Given the description of an element on the screen output the (x, y) to click on. 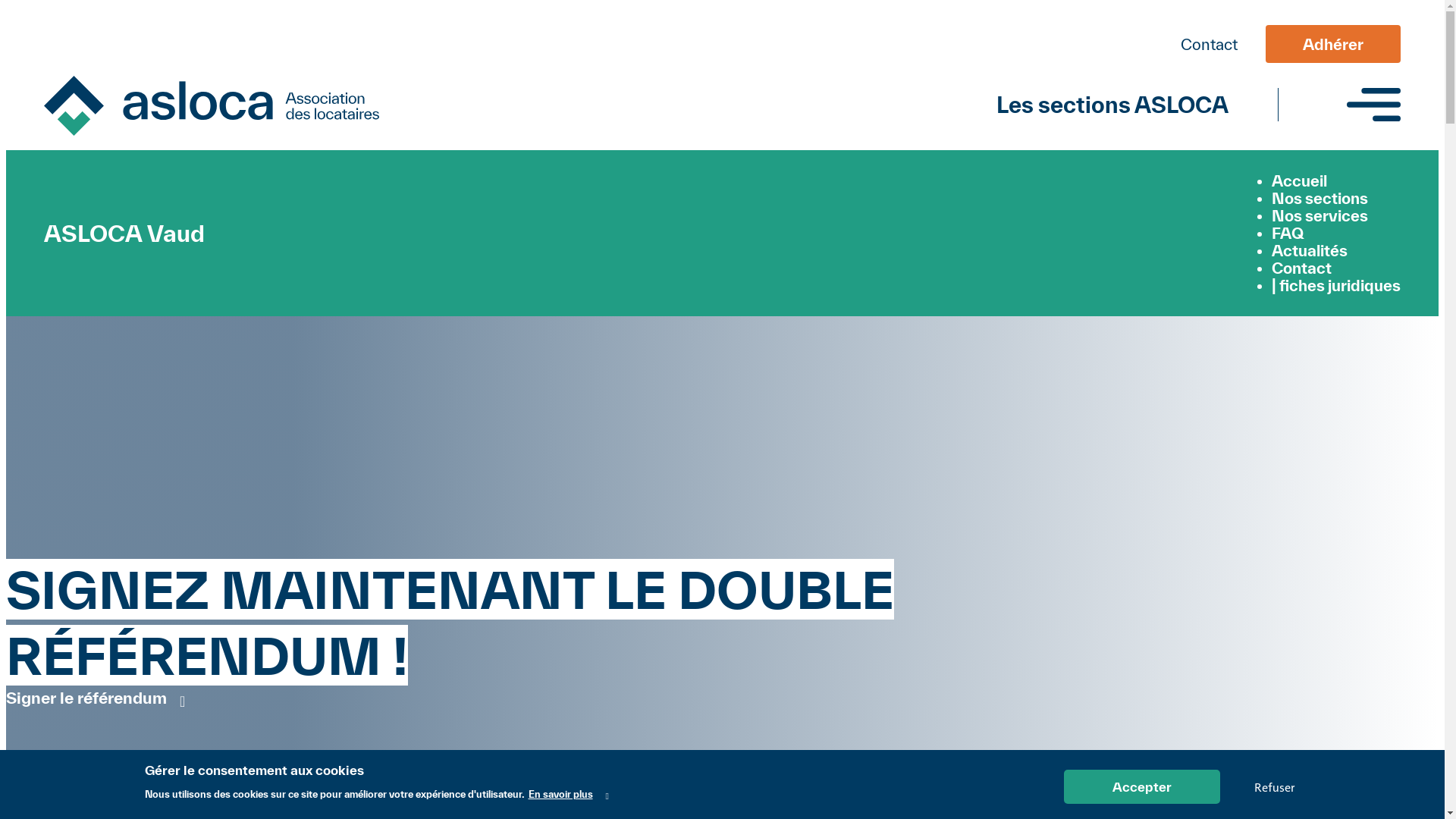
Les sections ASLOCA Element type: text (1112, 104)
Aller au contenu principal Element type: text (722, 7)
Accepter Element type: text (1141, 786)
Home Element type: hover (211, 106)
En savoir plus Element type: text (567, 795)
Contact Element type: text (1208, 43)
Contact Element type: text (1301, 267)
Refuser Element type: text (1274, 786)
Accueil Element type: text (1299, 180)
Nos sections Element type: text (1319, 198)
| fiches juridiques Element type: text (1335, 285)
Nos services Element type: text (1319, 215)
FAQ Element type: text (1287, 232)
